Given the description of an element on the screen output the (x, y) to click on. 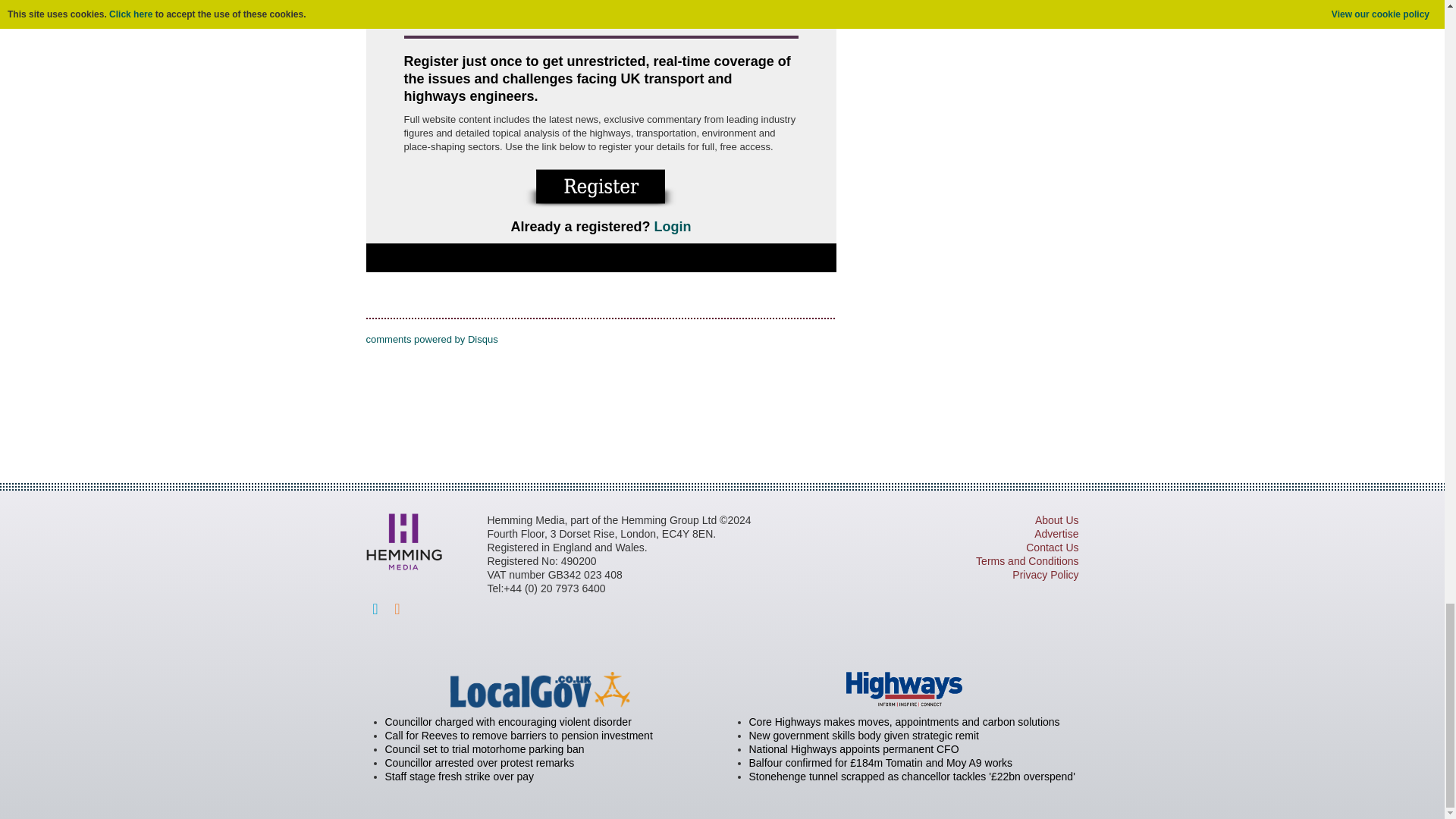
comments powered by Disqus (431, 338)
Login (672, 226)
3rd party ad content (721, 403)
